Given the description of an element on the screen output the (x, y) to click on. 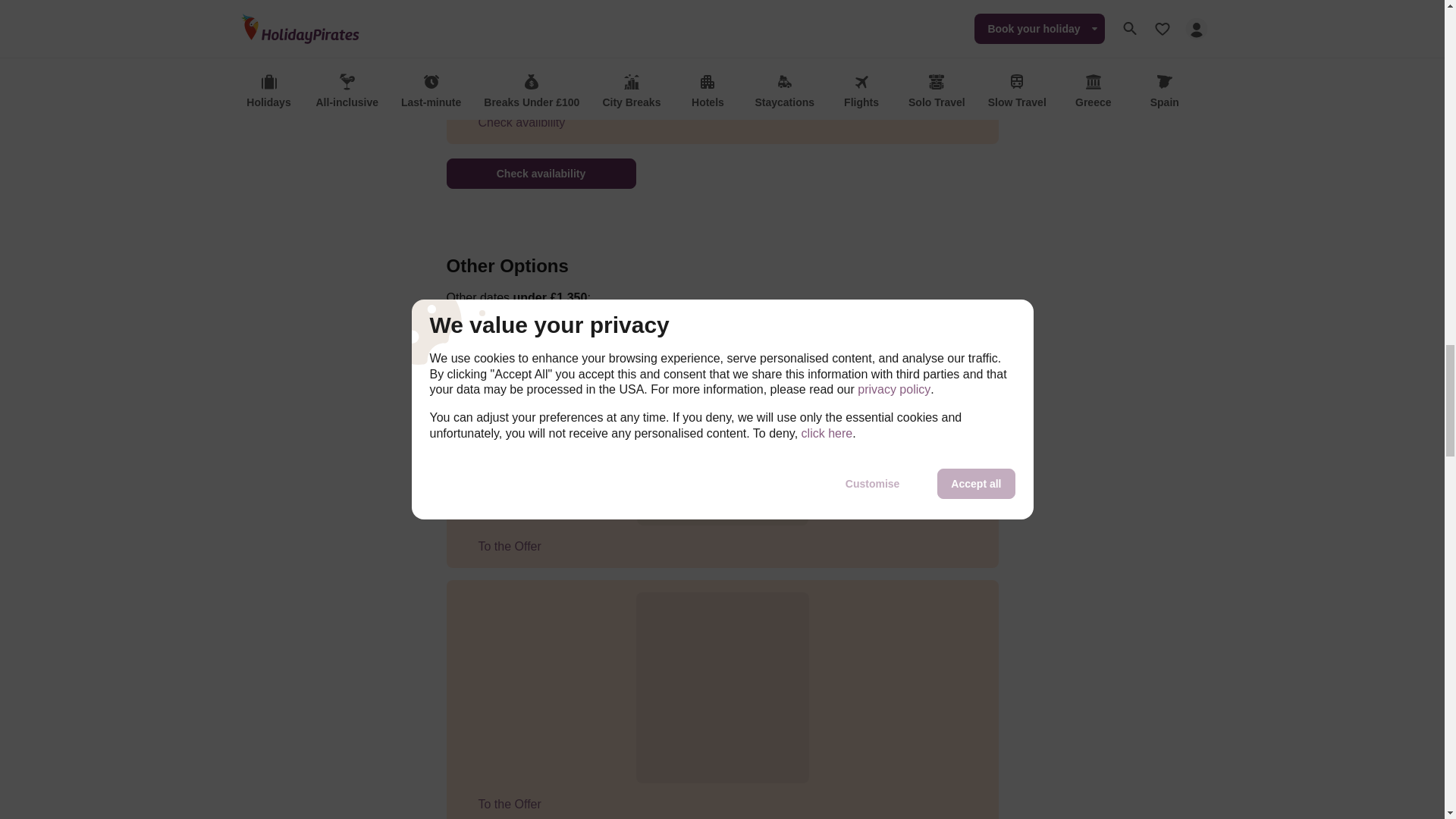
Check availability (539, 173)
To the Offer (505, 804)
To the Offer (505, 546)
Check availbility (517, 122)
